Given the description of an element on the screen output the (x, y) to click on. 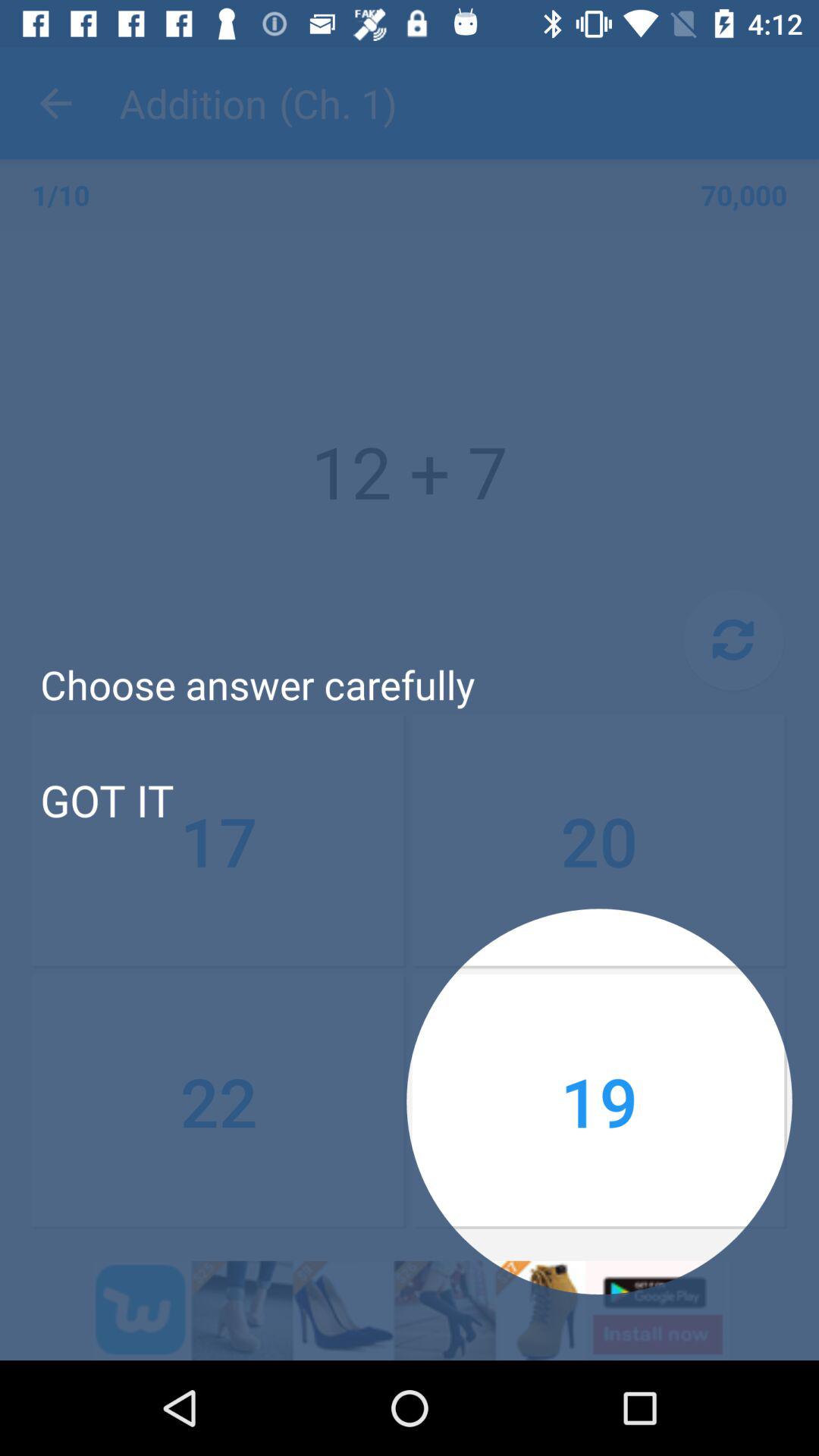
select the icon below the 17 item (218, 1101)
